Given the description of an element on the screen output the (x, y) to click on. 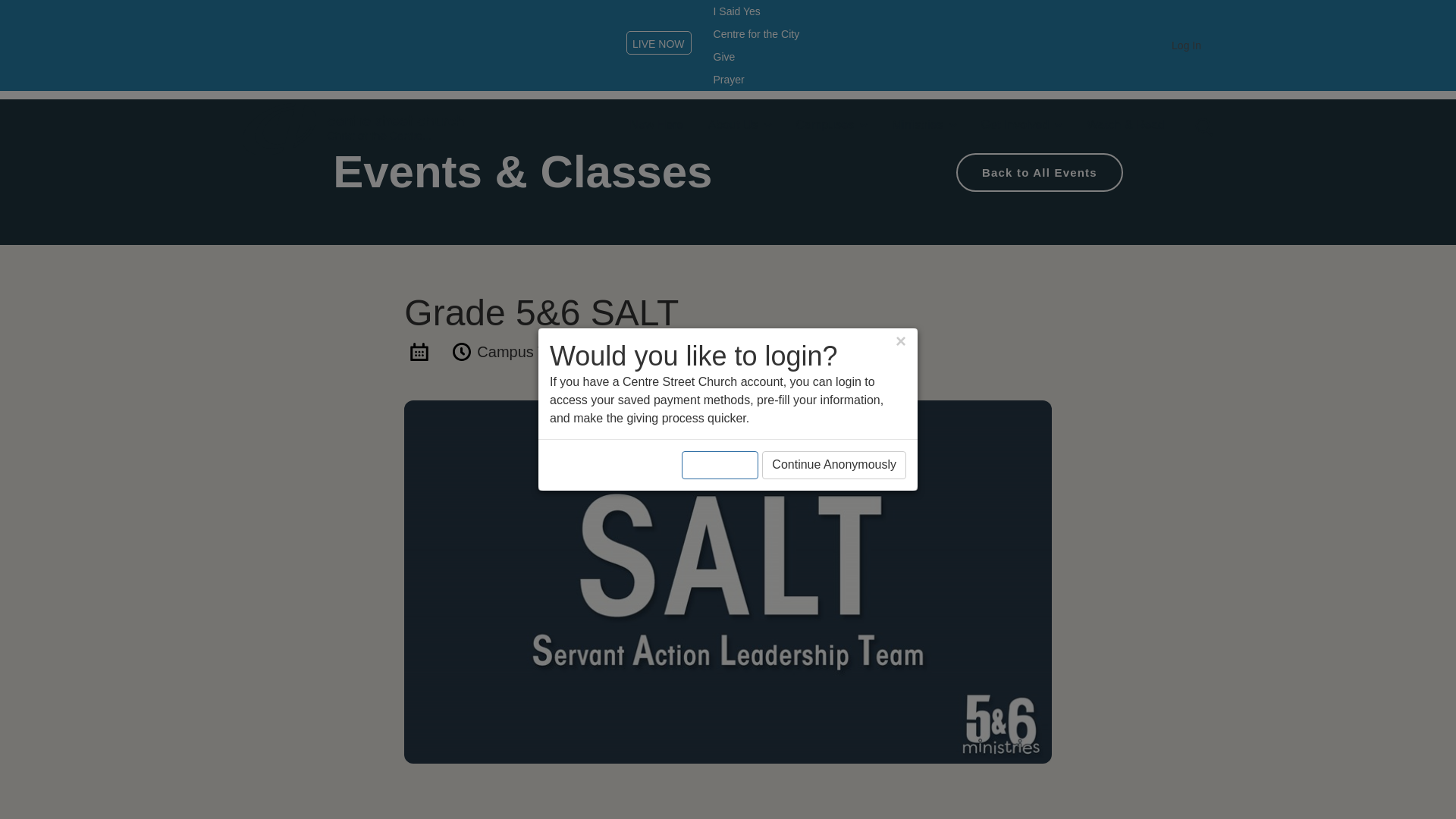
Centre for the City (756, 33)
Campuses (831, 125)
Open menu (1200, 127)
Get Involved (1021, 125)
I Said Yes (737, 11)
About Us (739, 125)
Ministries (923, 125)
LIVE NOW (657, 44)
Back to All Events (1039, 172)
Give (724, 56)
New Here (657, 124)
Log In (1185, 45)
Prayer (729, 78)
